Given the description of an element on the screen output the (x, y) to click on. 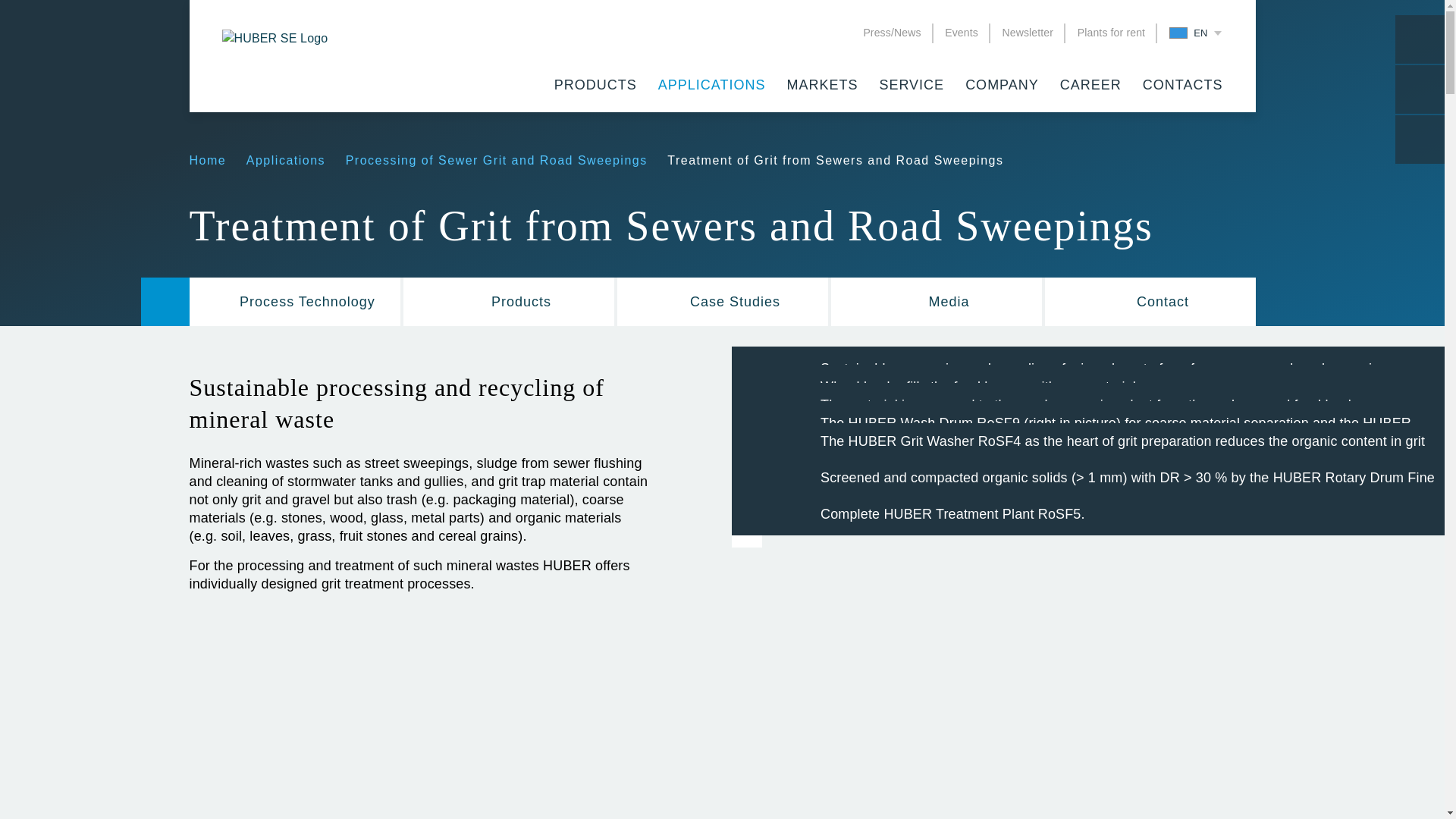
Products (595, 88)
Process Technology (294, 301)
Case Studies (722, 301)
Events (961, 32)
Plant technology for rental (1110, 32)
Products (508, 301)
PRODUCTS (595, 88)
Media (936, 301)
Events (961, 32)
Newsletter (1026, 32)
